Given the description of an element on the screen output the (x, y) to click on. 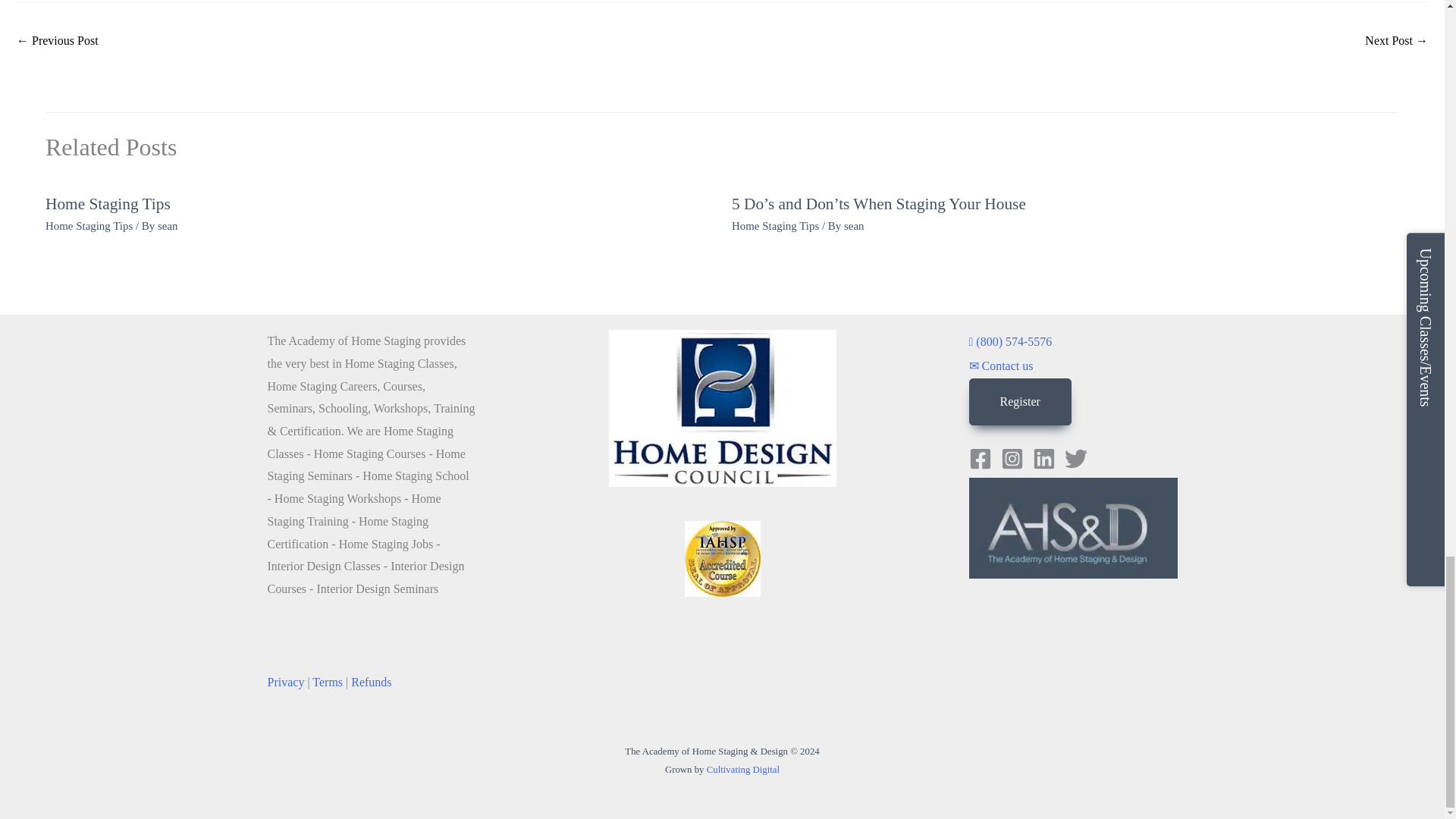
10 Color Basics Tips (57, 41)
View all posts by sean (854, 225)
Create Vignette Interior Designs (1396, 41)
View all posts by sean (167, 225)
